Given the description of an element on the screen output the (x, y) to click on. 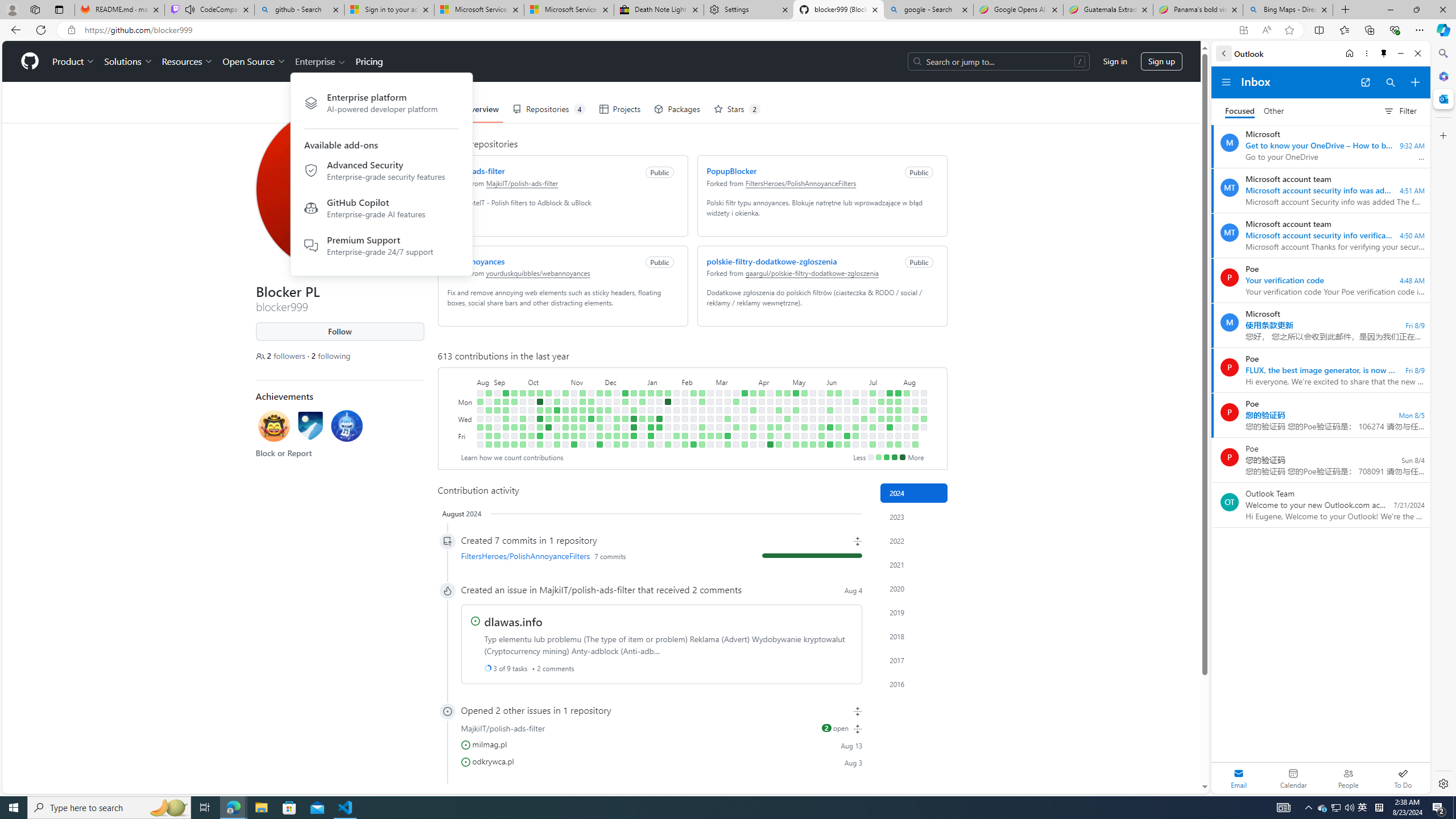
No contributions on August 23rd. (479, 418)
1 contribution on May 11th. (795, 444)
Open Source (254, 60)
3 contributions on June 15th. (837, 444)
1 contribution on August 3rd. (897, 444)
No contributions on June 18th. (846, 410)
Close tab (1324, 9)
No contributions on July 26th. (889, 435)
3 contributions on July 17th. (880, 418)
No contributions on March 23rd. (735, 444)
No contributions on July 12th. (872, 435)
No contributions on December 7th. (607, 427)
polskie-filtry-dodatkowe-zgloszenia (771, 260)
Monday (465, 401)
2 contributions on January 3rd. (642, 418)
